Given the description of an element on the screen output the (x, y) to click on. 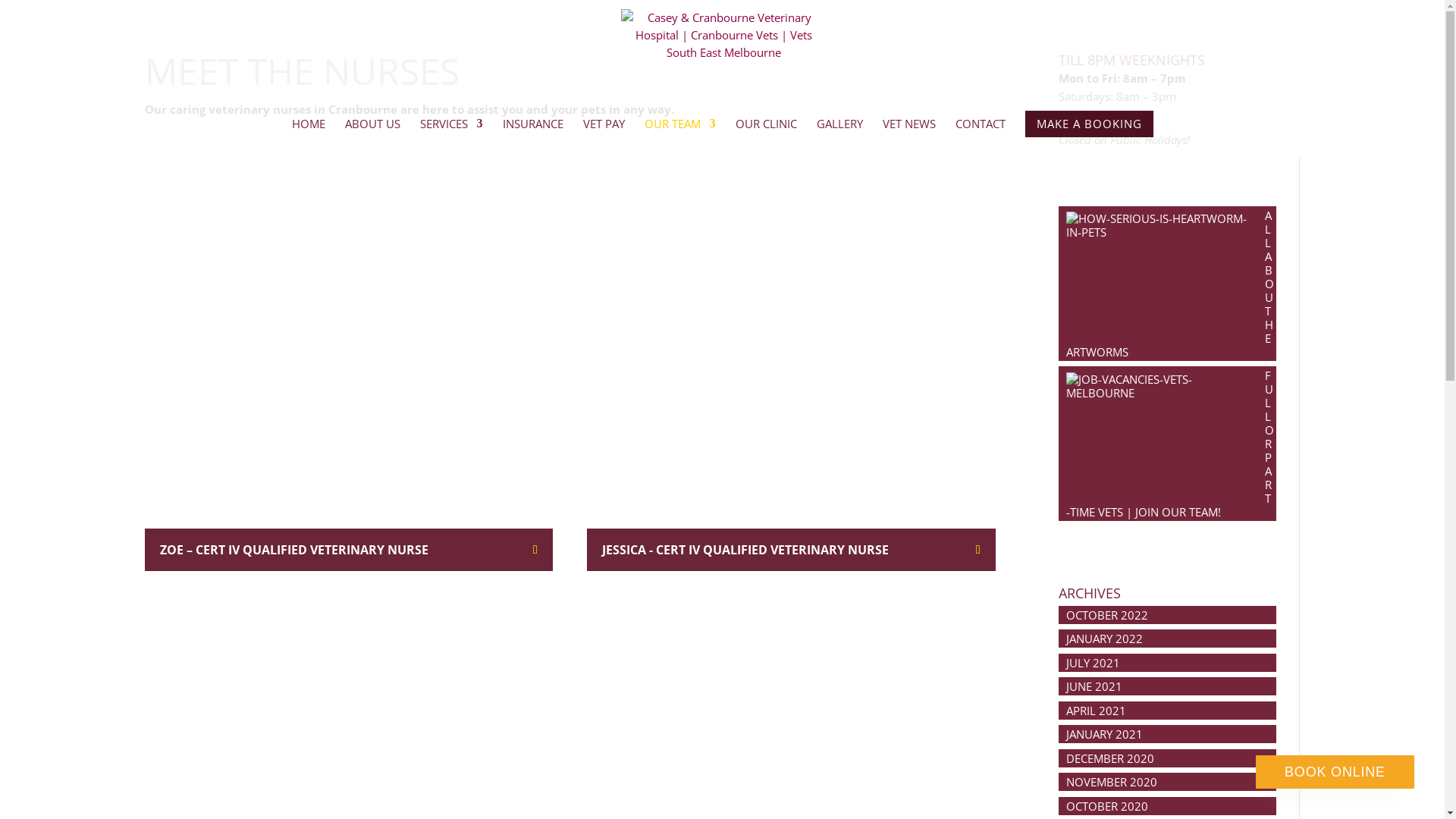
CONTACT Element type: text (980, 132)
VET PAY Element type: text (603, 132)
JULY 2021 Element type: text (1093, 662)
OUR TEAM Element type: text (679, 132)
JANUARY 2021 Element type: text (1104, 733)
BOOK ONLINE Element type: text (1334, 771)
OCTOBER 2022 Element type: text (1107, 614)
VET NEWS Element type: text (908, 132)
JANUARY 2022 Element type: text (1104, 638)
ALL ABOUT HEARTWORMS Element type: text (1169, 283)
APRIL 2021 Element type: text (1096, 710)
NOVEMBER 2020 Element type: text (1111, 781)
ABOUT US Element type: text (371, 132)
JUNE 2021 Element type: text (1094, 685)
GALLERY Element type: text (838, 132)
DECEMBER 2020 Element type: text (1110, 757)
INSURANCE Element type: text (532, 132)
MAKE A BOOKING Element type: text (1089, 133)
OCTOBER 2020 Element type: text (1107, 805)
SERVICES Element type: text (451, 132)
FULL OR PART-TIME VETS | JOIN OUR TEAM! Element type: text (1169, 443)
HOME Element type: text (307, 132)
OUR CLINIC Element type: text (766, 132)
